Given the description of an element on the screen output the (x, y) to click on. 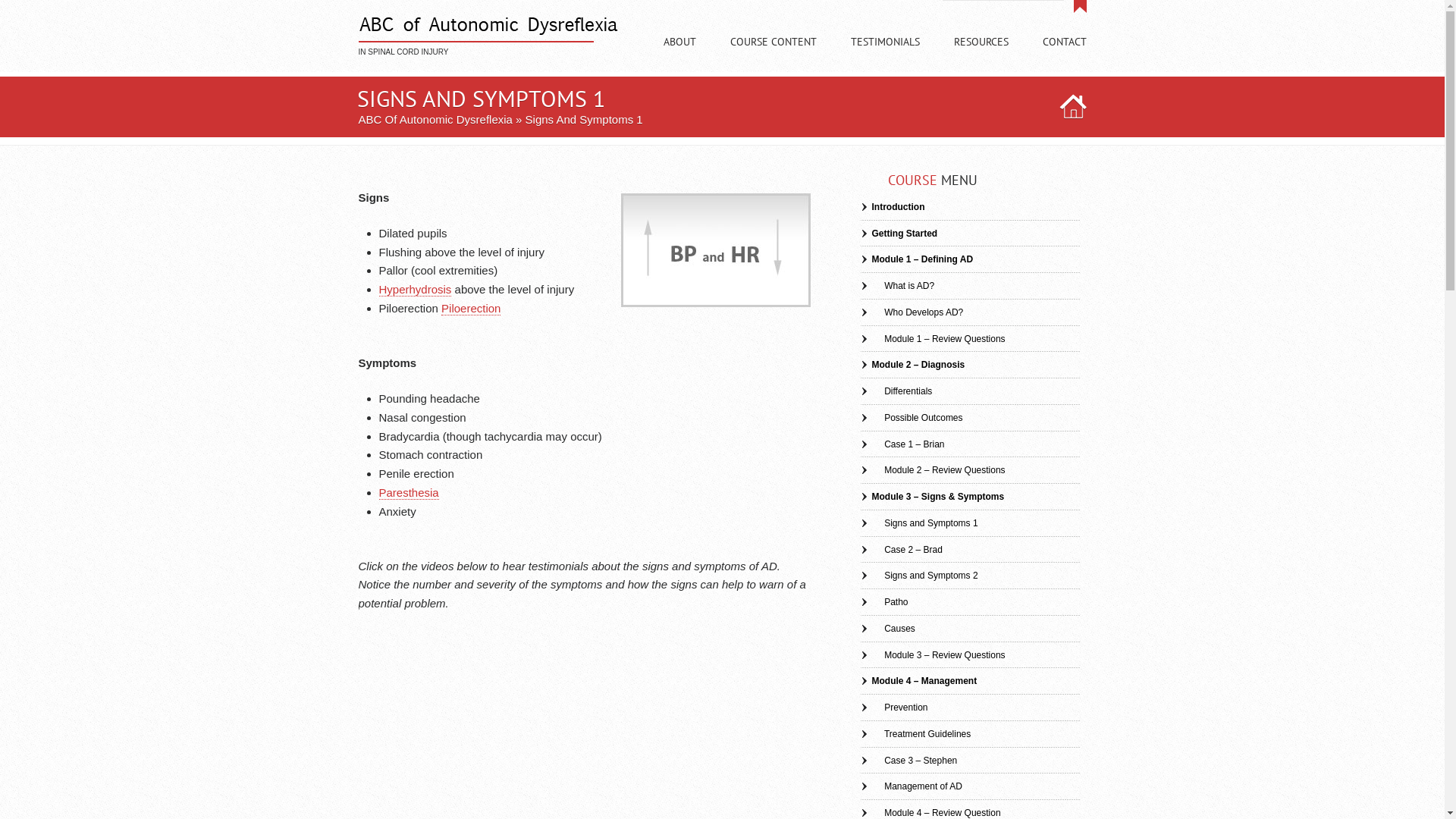
     What is AD? Element type: text (896, 285)
Getting Started Element type: text (898, 233)
     Signs and Symptoms 1 Element type: text (918, 522)
CONTACT Element type: text (1063, 55)
Introduction Element type: text (891, 206)
ABOUT Element type: text (678, 55)
Hyperhydrosis Element type: text (415, 289)
ABC Of Autonomic Dysreflexia Element type: text (434, 118)
     Differentials Element type: text (895, 390)
Paresthesia Element type: text (409, 492)
RESOURCES Element type: text (980, 55)
     Management of AD Element type: text (910, 786)
     Patho Element type: text (883, 601)
     Causes Element type: text (886, 628)
     Prevention Element type: text (893, 707)
TESTIMONIALS Element type: text (884, 55)
Piloerection Element type: text (470, 308)
     Signs and Symptoms 2 Element type: text (918, 575)
     Who Develops AD? Element type: text (911, 312)
     Possible Outcomes Element type: text (910, 417)
     Treatment Guidelines Element type: text (914, 733)
COURSE CONTENT Element type: text (772, 55)
